Given the description of an element on the screen output the (x, y) to click on. 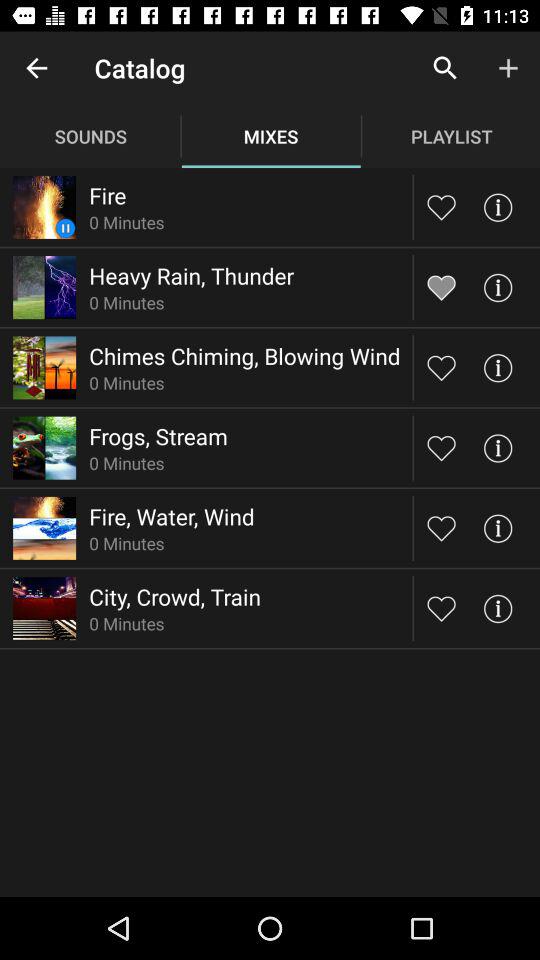
get more information (498, 287)
